Given the description of an element on the screen output the (x, y) to click on. 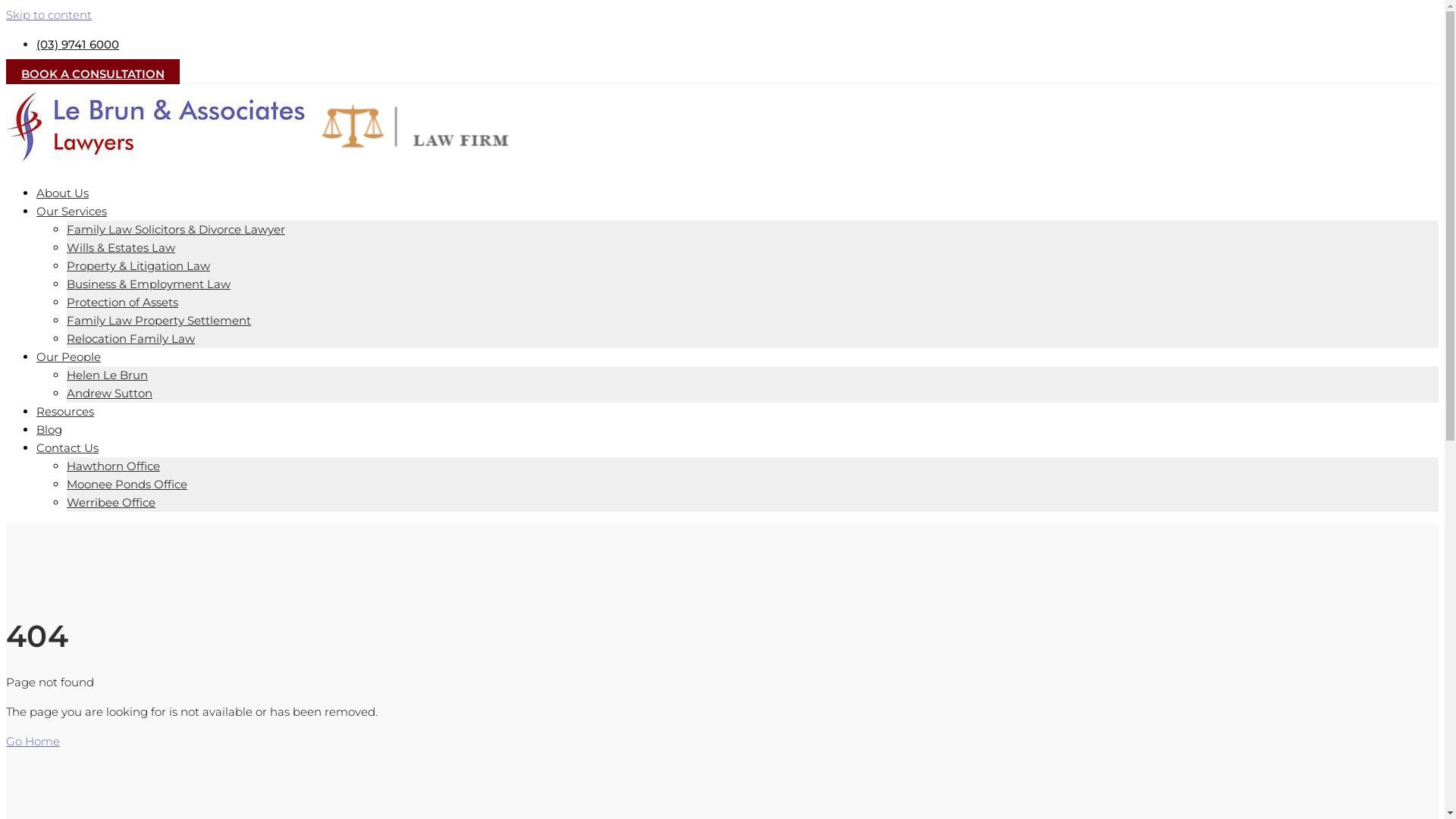
Hawthorn Office Element type: text (113, 465)
Relocation Family Law Element type: text (130, 338)
About Us Element type: text (62, 192)
Family Law Property Settlement Element type: text (158, 320)
Property & Litigation Law Element type: text (138, 265)
Family Law Solicitors & Divorce Lawyer Element type: text (175, 229)
Moonee Ponds Office Element type: text (126, 483)
Skip to content Element type: text (48, 14)
Business & Employment Law Element type: text (148, 283)
Our Services Element type: text (71, 210)
Helen Le Brun Element type: text (106, 374)
Contact Us Element type: text (67, 447)
(03) 9741 6000 Element type: text (77, 44)
Wills & Estates Law Element type: text (120, 247)
Blog Element type: text (49, 429)
BOOK A CONSULTATION Element type: text (92, 73)
Andrew Sutton Element type: text (109, 392)
Our People Element type: text (68, 356)
Go Home Element type: text (32, 741)
Resources Element type: text (65, 411)
Werribee Office Element type: text (110, 502)
Protection of Assets Element type: text (122, 301)
